Given the description of an element on the screen output the (x, y) to click on. 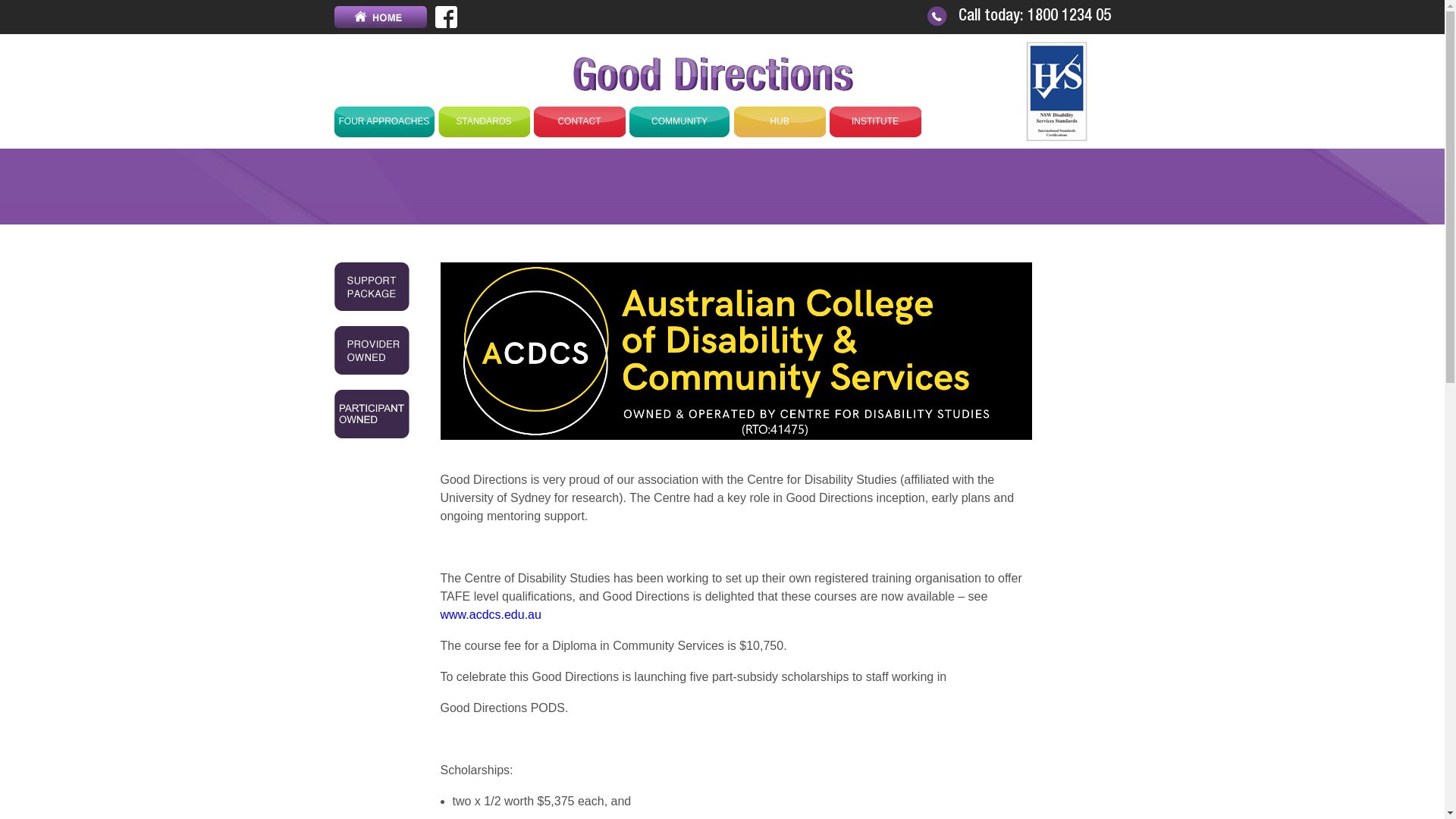
www.acdcs.edu.au Element type: text (489, 614)
STANDARDS Element type: text (483, 121)
INSTITUTE Element type: text (874, 121)
HUB Element type: text (778, 121)
COMMUNITY Element type: text (679, 121)
Good Directions Facebook Page Element type: hover (446, 15)
CONTACT Element type: text (578, 121)
FOUR APPROACHES Element type: text (383, 121)
